Given the description of an element on the screen output the (x, y) to click on. 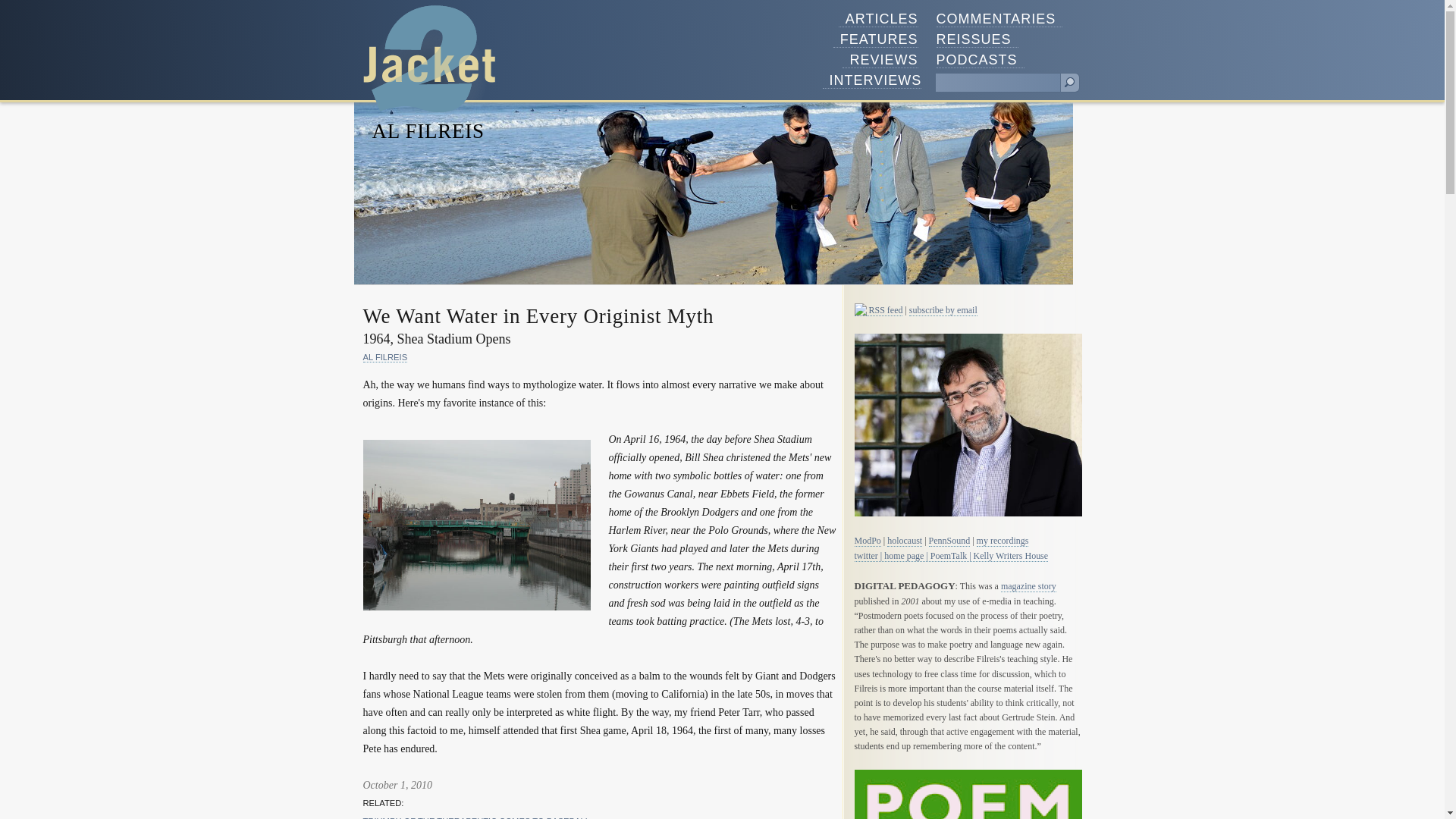
REISSUES (976, 39)
my recordings (1002, 541)
REVIEWS (880, 59)
Enter the terms you wish to search for. (997, 82)
ARTICLES (878, 19)
Home (429, 58)
Subscribe to my feed (859, 310)
Features (875, 39)
Jacket2 (429, 58)
Articles (878, 19)
Podcasts (979, 59)
COMMENTARIES (999, 19)
FEATURES (875, 39)
AL FILREIS (384, 357)
magazine story (1029, 586)
